Given the description of an element on the screen output the (x, y) to click on. 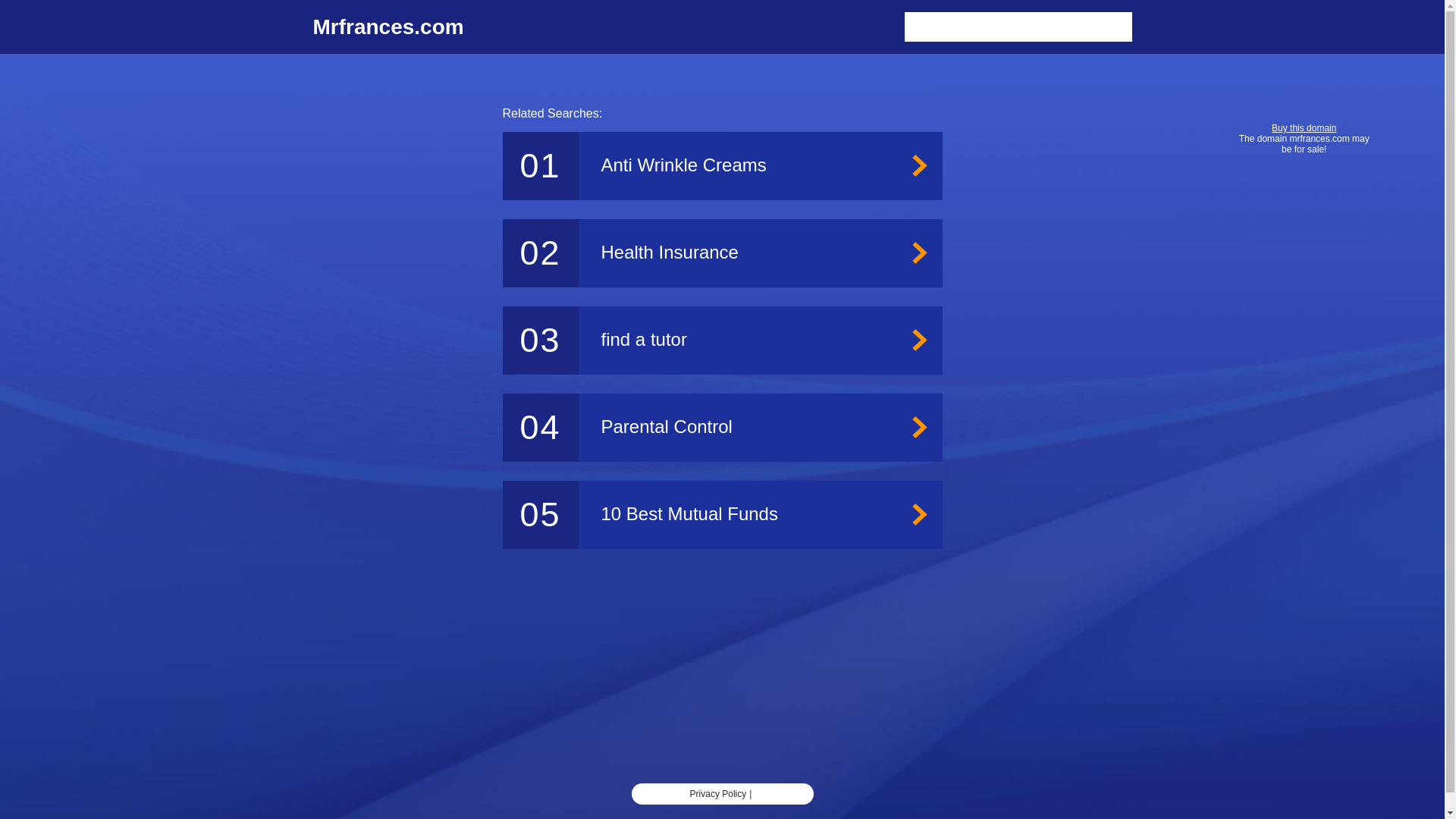
find a tutor (722, 340)
Anti Wrinkle Creams (722, 165)
Buy this domain (1303, 127)
Anti Wrinkle Creams (722, 165)
10 Best Mutual Funds (722, 514)
Health Insurance (722, 253)
Parental Control (722, 427)
Health Insurance (722, 253)
find a tutor (722, 340)
10 Best Mutual Funds (722, 514)
